Given the description of an element on the screen output the (x, y) to click on. 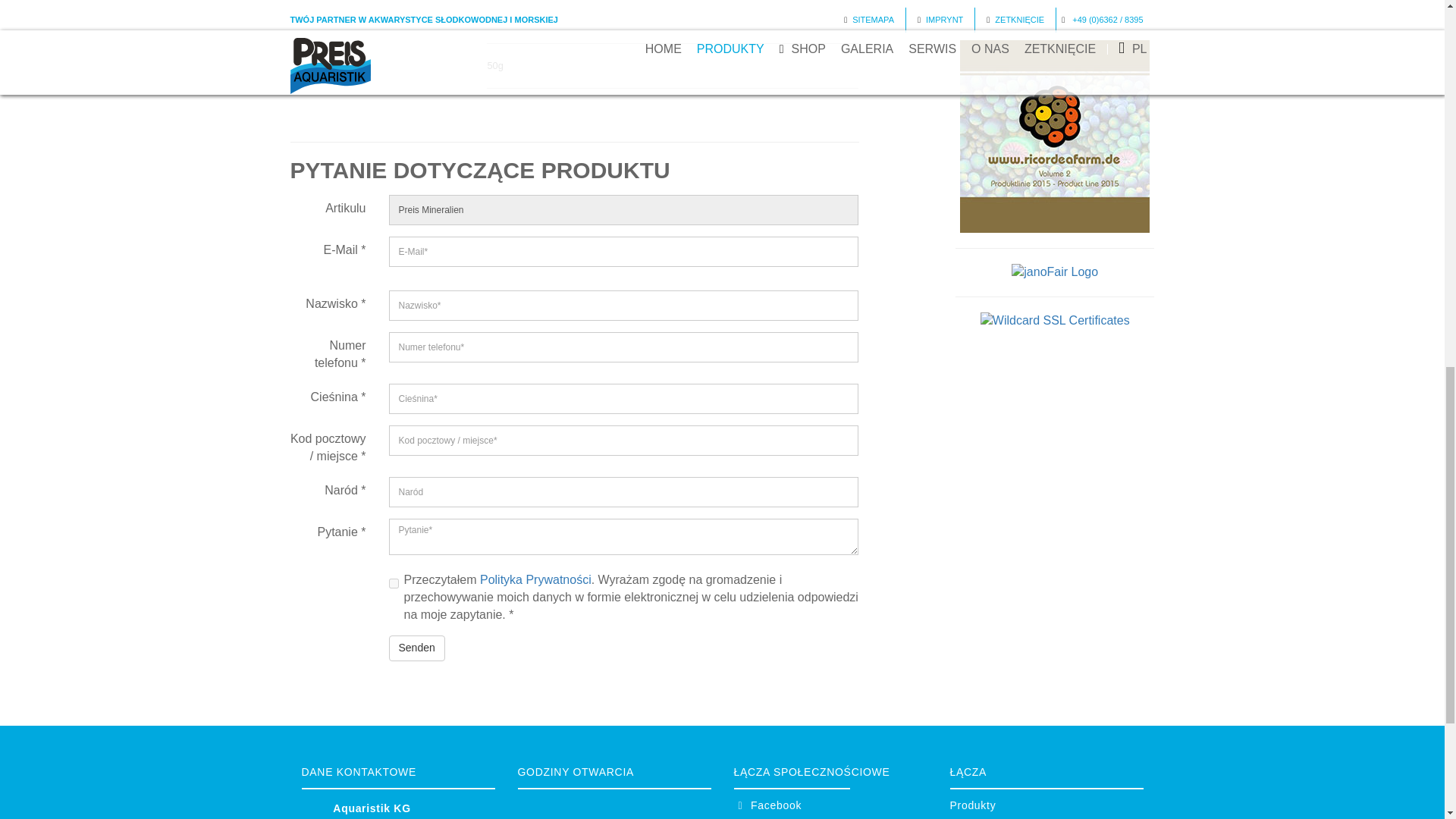
1 (392, 583)
Preis Mineralien (623, 209)
Senden (416, 647)
